Given the description of an element on the screen output the (x, y) to click on. 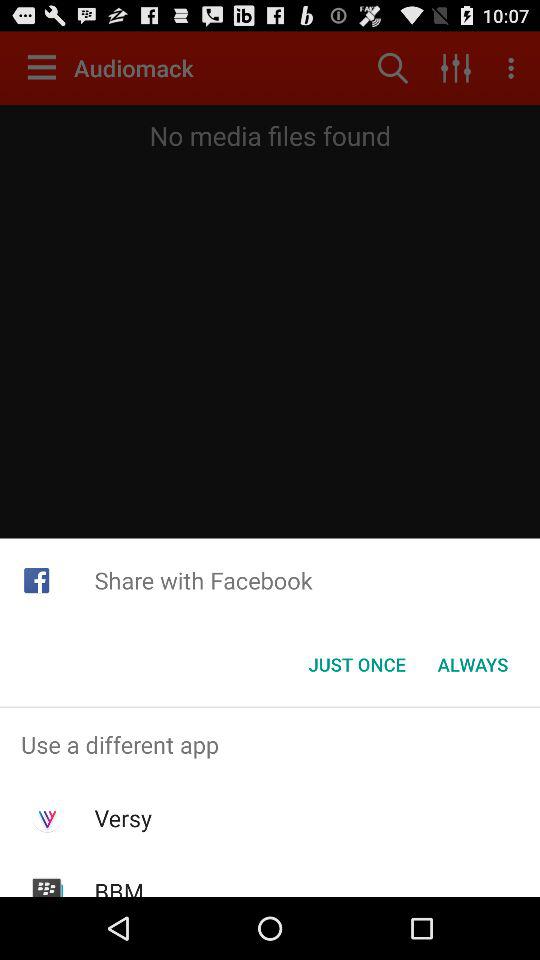
click item below use a different app (122, 817)
